Given the description of an element on the screen output the (x, y) to click on. 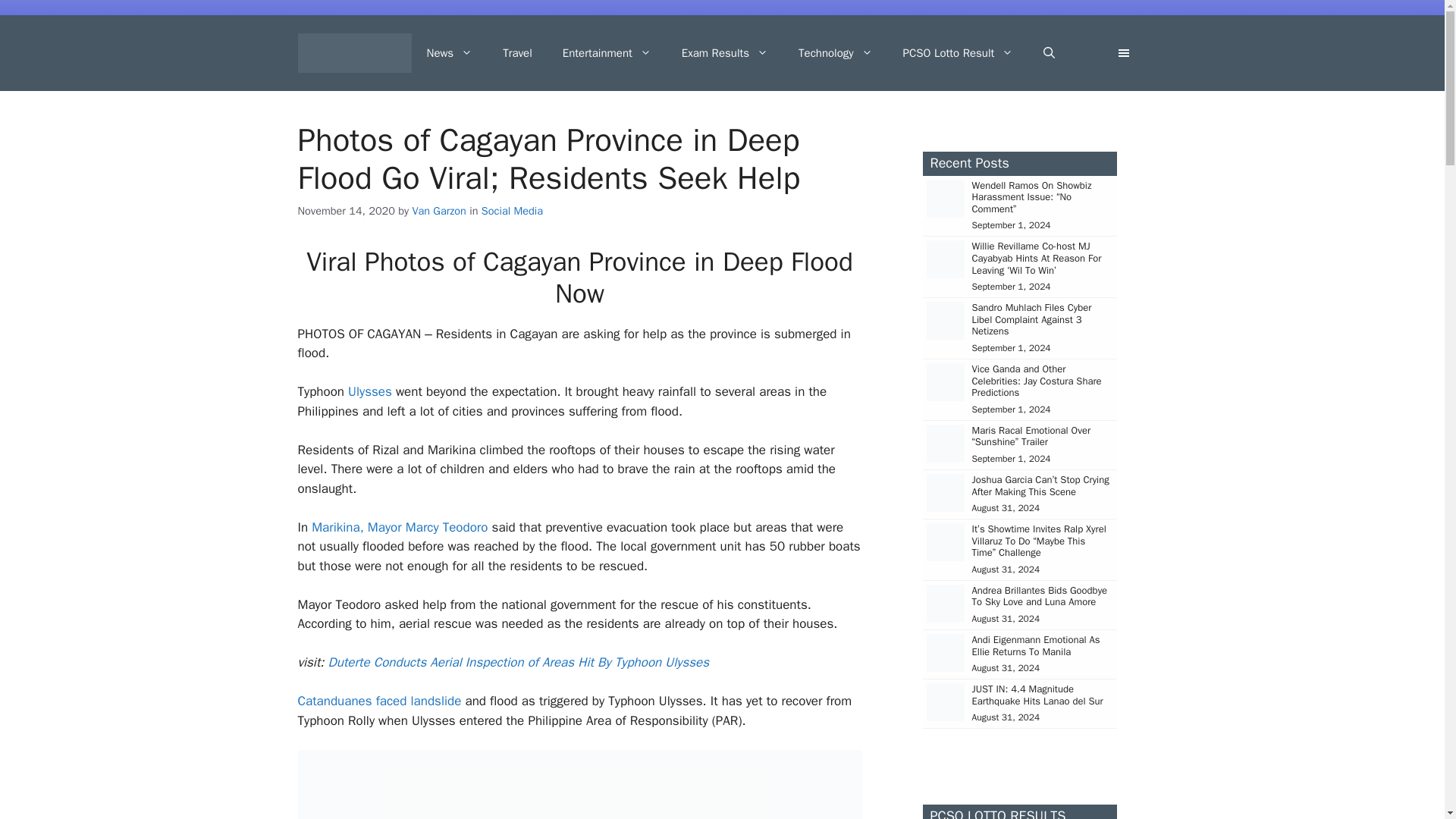
View all posts by Van Garzon (438, 210)
News (448, 53)
Travel (517, 53)
Exam Results (724, 53)
Entertainment (606, 53)
